Given the description of an element on the screen output the (x, y) to click on. 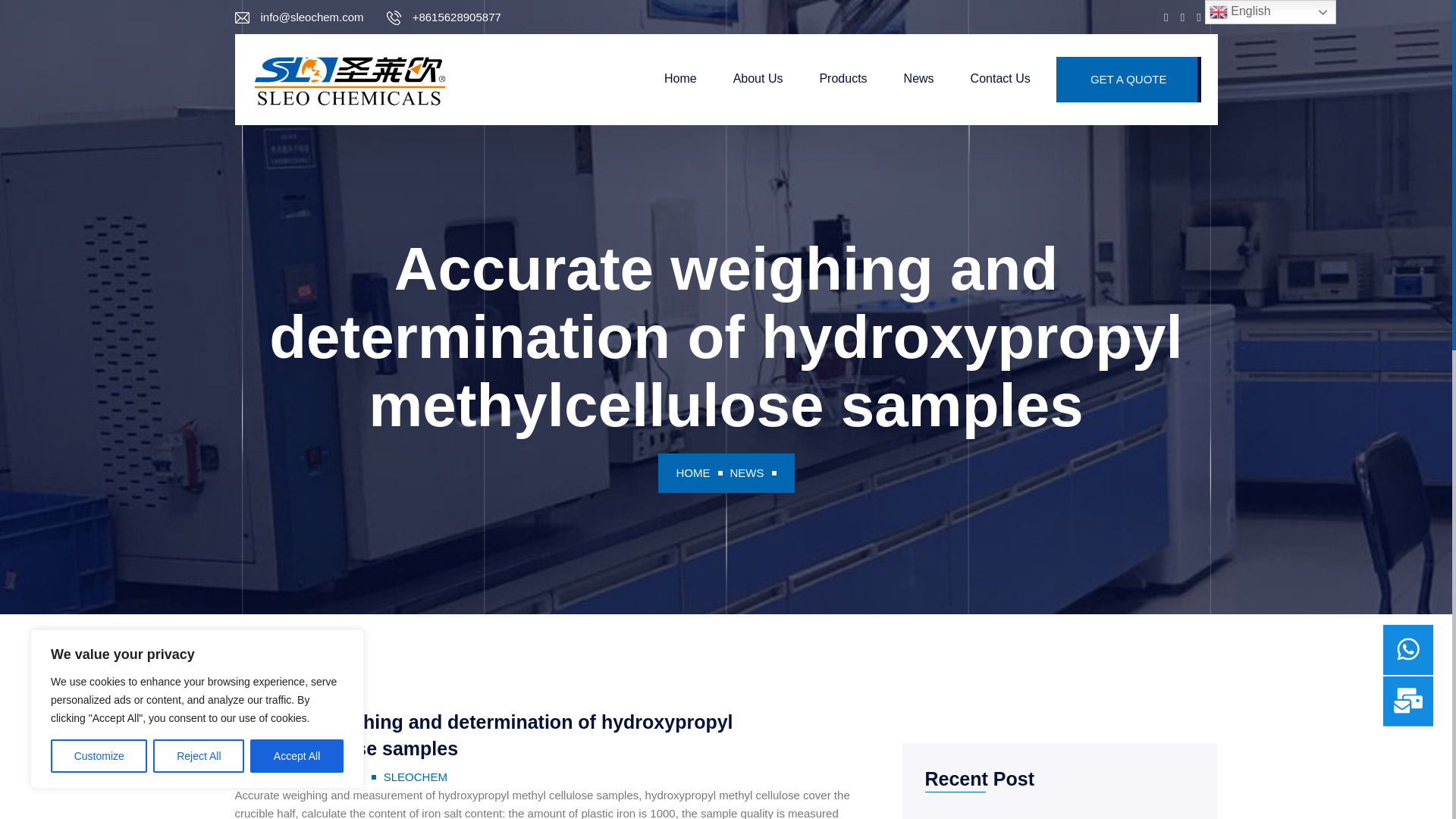
call (456, 16)
Accept All (296, 756)
About Us (758, 78)
SLEOCHEM (349, 79)
GET A QUOTE (1129, 79)
HOME (693, 472)
NEWS (745, 472)
Contact Us (1000, 78)
December 22nd 2021 (301, 777)
News (919, 78)
